Given the description of an element on the screen output the (x, y) to click on. 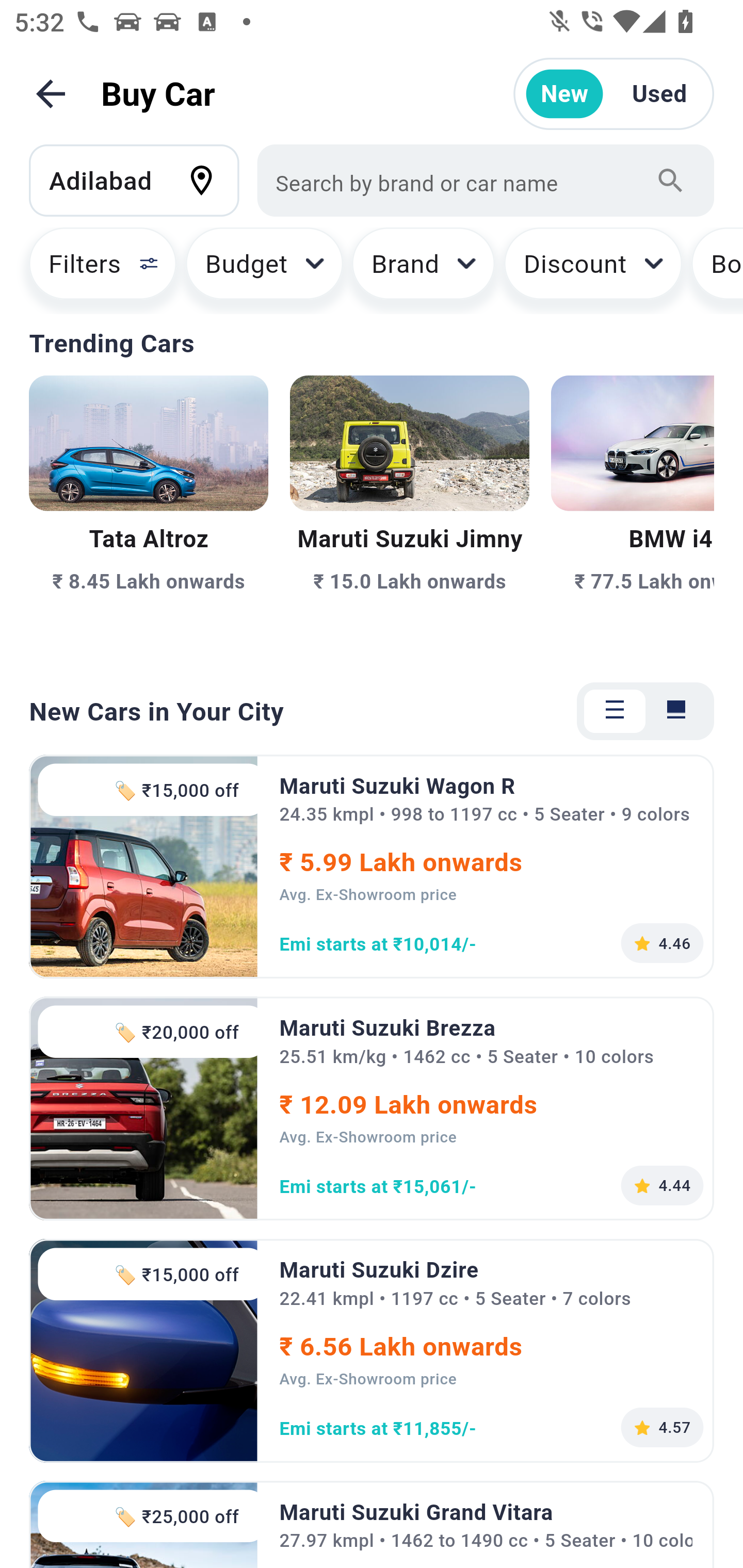
Back (50, 93)
New (564, 93)
Used (659, 93)
Adilabad (142, 180)
Filters (93, 270)
Budget (264, 270)
Brand (423, 270)
Discount (592, 270)
₹ 8.45 Lakh onwards Tata Altroz (148, 515)
₹ 15.0 Lakh onwards Maruti Suzuki Jimny (409, 515)
₹ 77.5 Lakh onwards BMW i4 (632, 515)
Tab 1 of 2 (614, 710)
Tab 2 of 2 (675, 710)
